Given the description of an element on the screen output the (x, y) to click on. 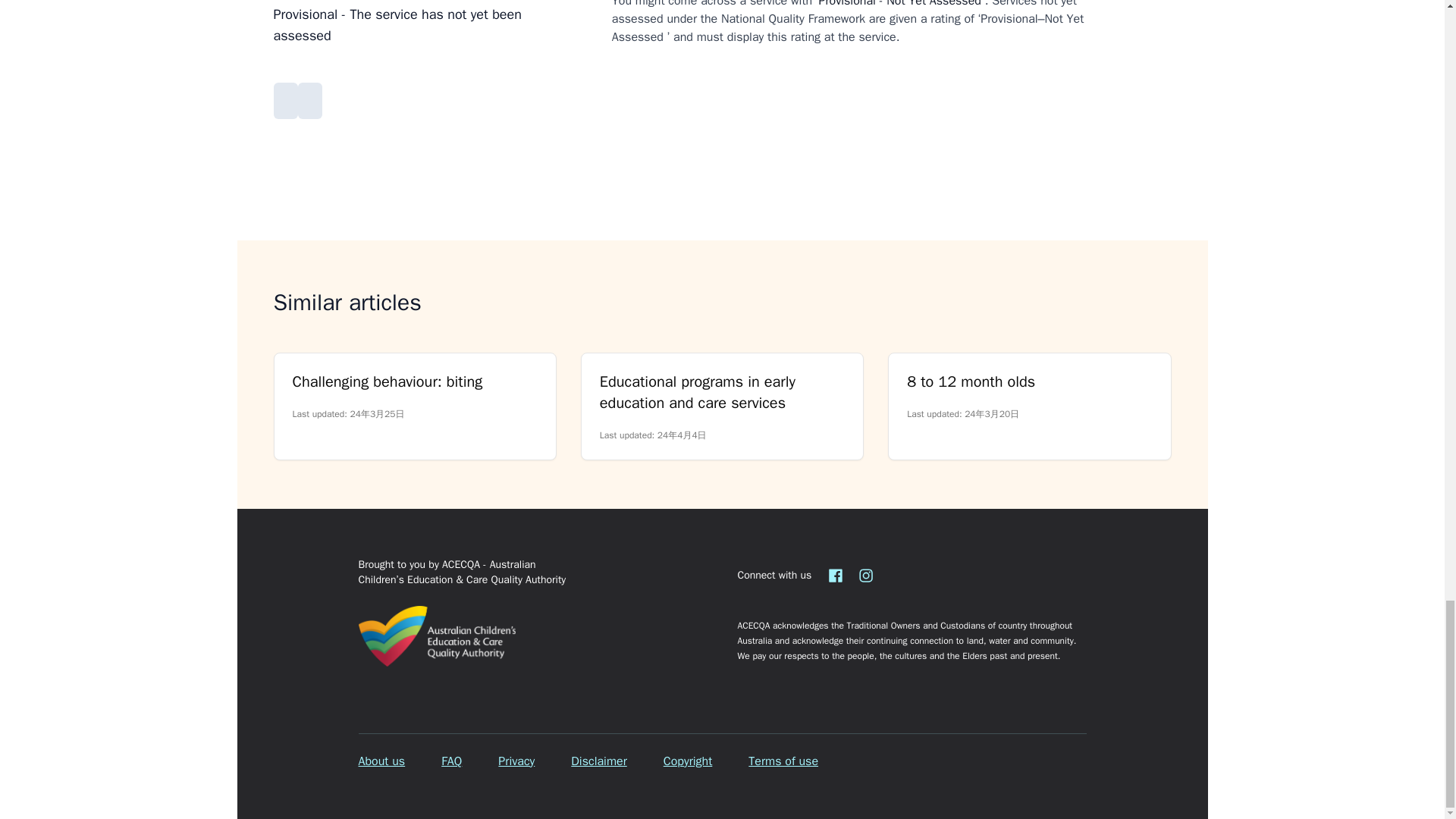
Challenging behaviour: biting (414, 382)
Copyright (688, 761)
Privacy (515, 761)
Terms of use (783, 761)
8 to 12 month olds (1029, 382)
Educational programs in early education and care services (721, 392)
Disclaimer (598, 761)
About us (381, 761)
FAQ (451, 761)
